Given the description of an element on the screen output the (x, y) to click on. 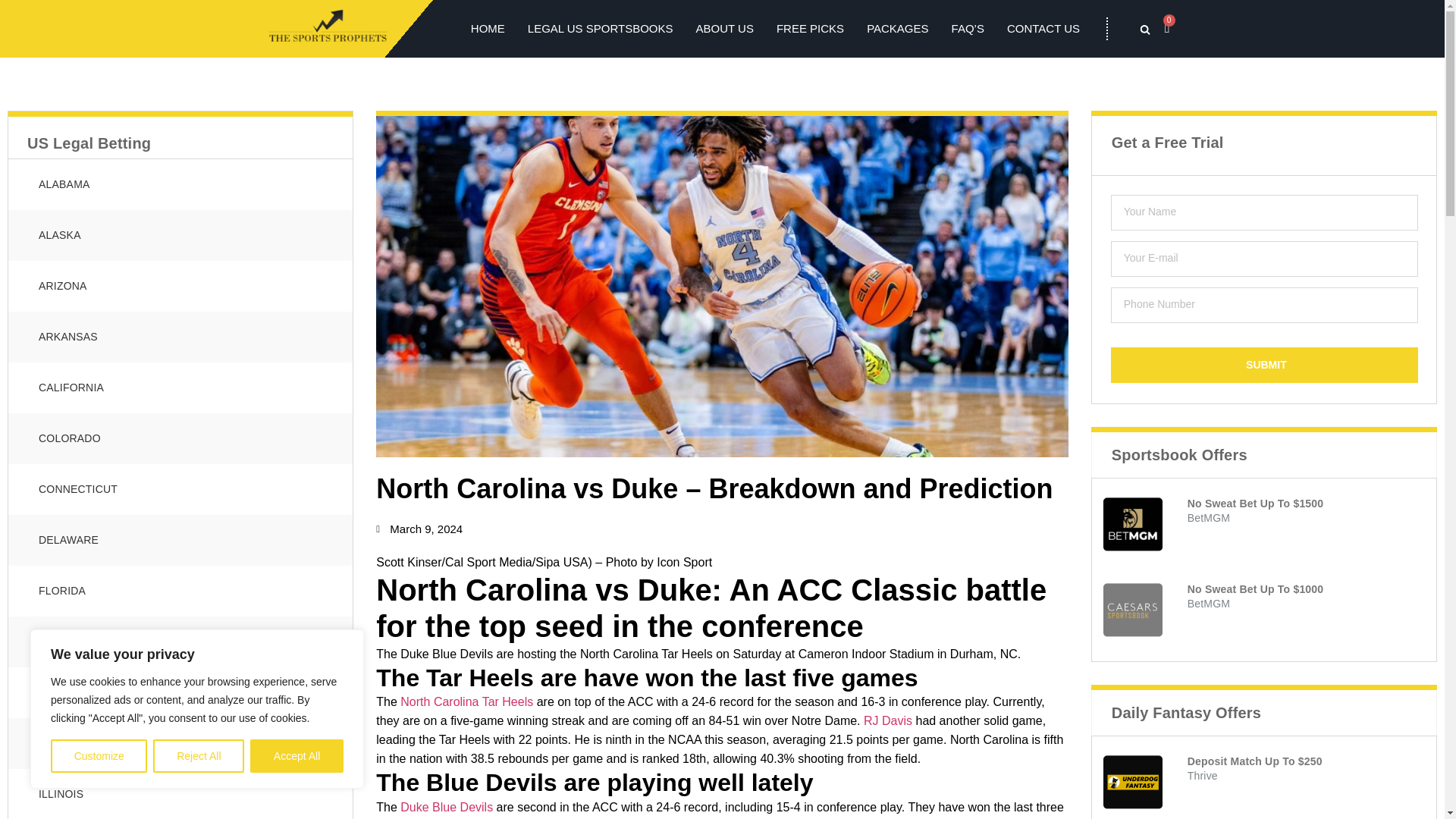
ABOUT US (724, 28)
LEGAL US SPORTSBOOKS (599, 28)
Accept All (296, 756)
PACKAGES (897, 28)
Customize (98, 756)
Reject All (198, 756)
HOME (487, 28)
CONTACT US (1043, 28)
FREE PICKS (810, 28)
